Given the description of an element on the screen output the (x, y) to click on. 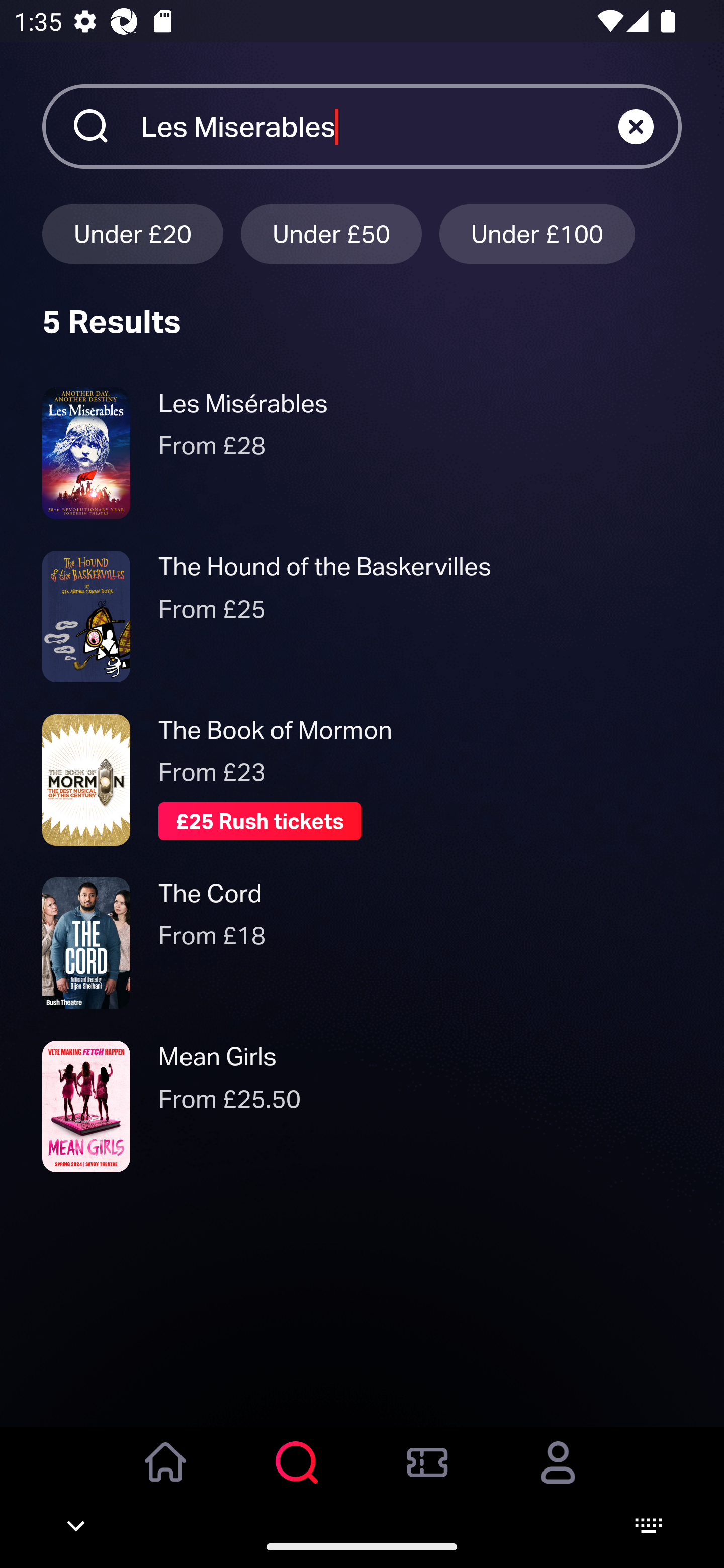
Les Miserables (379, 126)
Under £20 (131, 233)
Under £50 (331, 233)
Under £100 (536, 233)
Les Misérables £28  Les Misérables From £28 (361, 453)
The Cord £18  The Cord From £18 (361, 943)
Mean Girls £25.50  Mean Girls From £25.50 (361, 1106)
Home (165, 1475)
Orders (427, 1475)
Account (558, 1475)
